Given the description of an element on the screen output the (x, y) to click on. 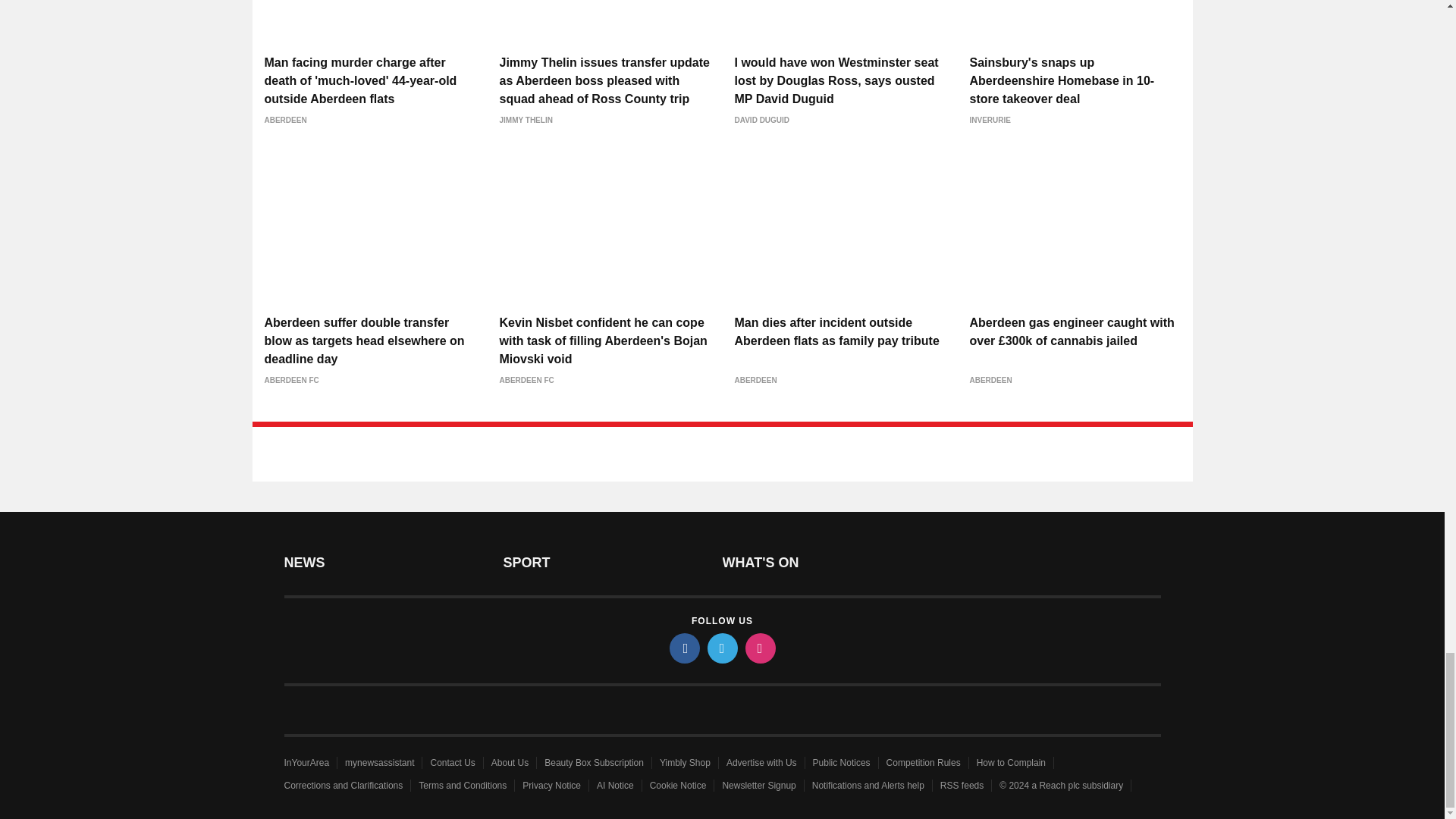
instagram (759, 648)
facebook (683, 648)
twitter (721, 648)
